Given the description of an element on the screen output the (x, y) to click on. 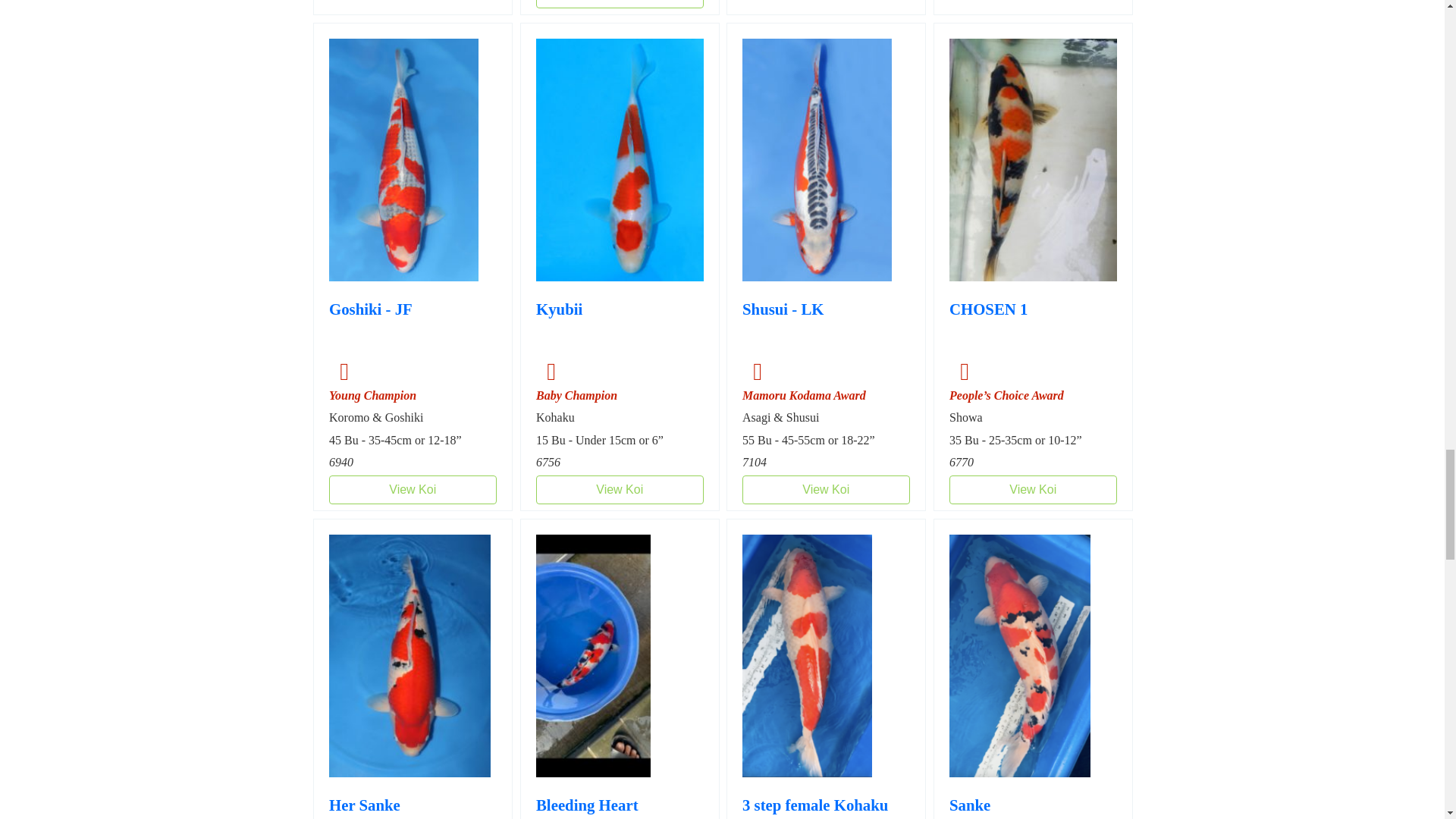
Goshiki - JF (370, 323)
Kyubii (557, 323)
